Given the description of an element on the screen output the (x, y) to click on. 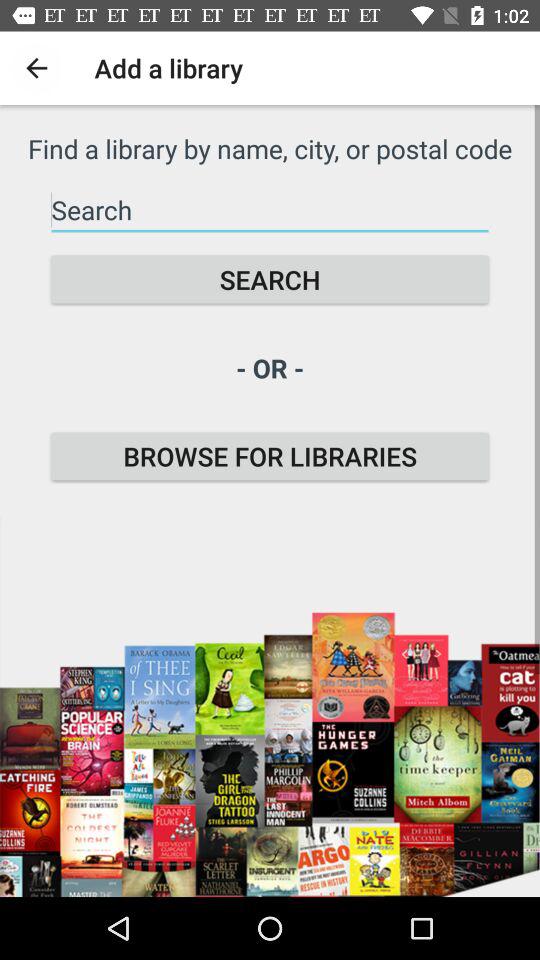
tap search (269, 279)
